Given the description of an element on the screen output the (x, y) to click on. 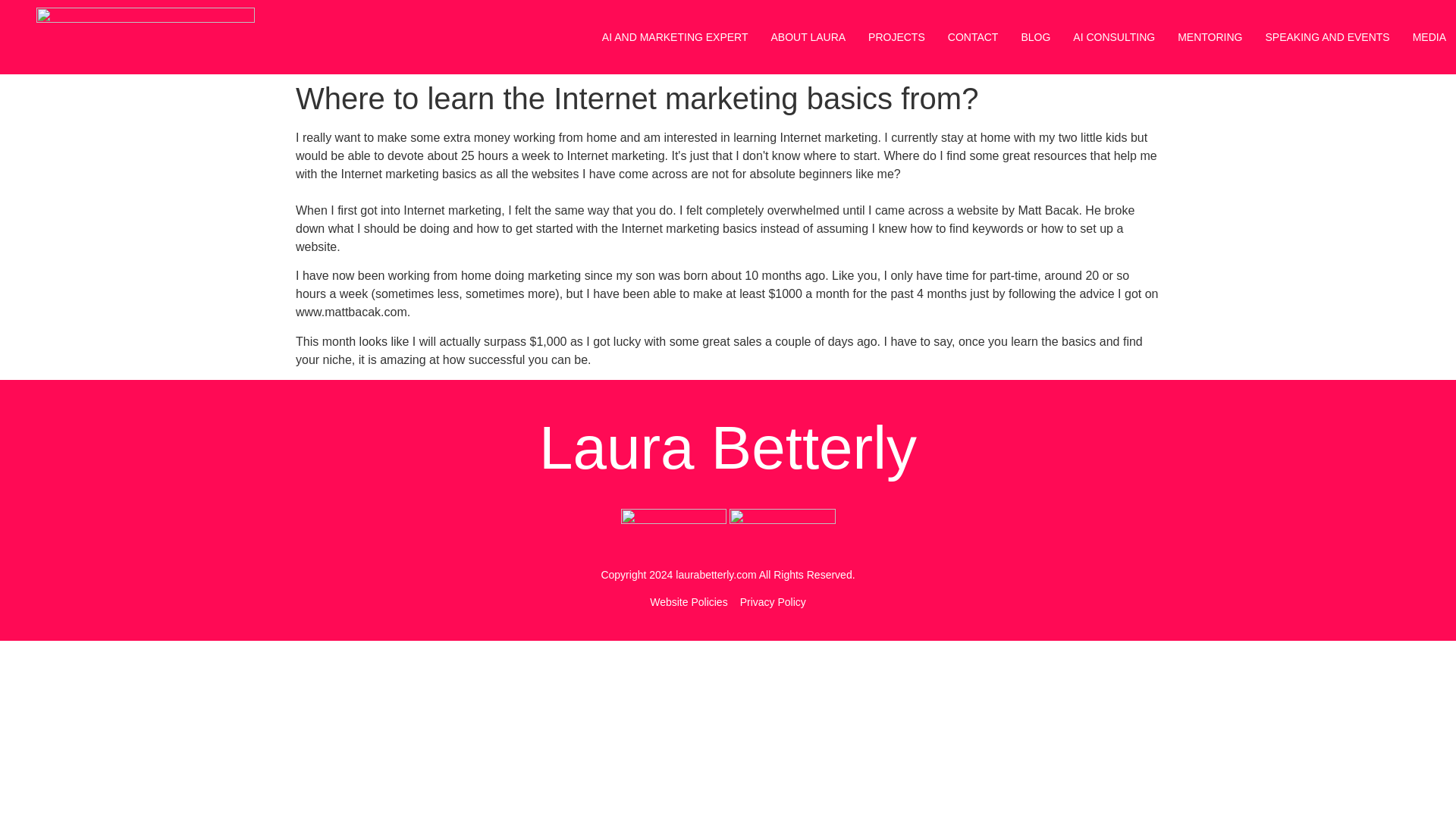
AI AND MARKETING EXPERT (675, 37)
BLOG (1034, 37)
Privacy Policy (772, 602)
MENTORING (1209, 37)
PROJECTS (896, 37)
Website Policies (687, 602)
CONTACT (972, 37)
AI CONSULTING (1113, 37)
SPEAKING AND EVENTS (1326, 37)
ABOUT LAURA (808, 37)
MEDIA (1429, 37)
